Given the description of an element on the screen output the (x, y) to click on. 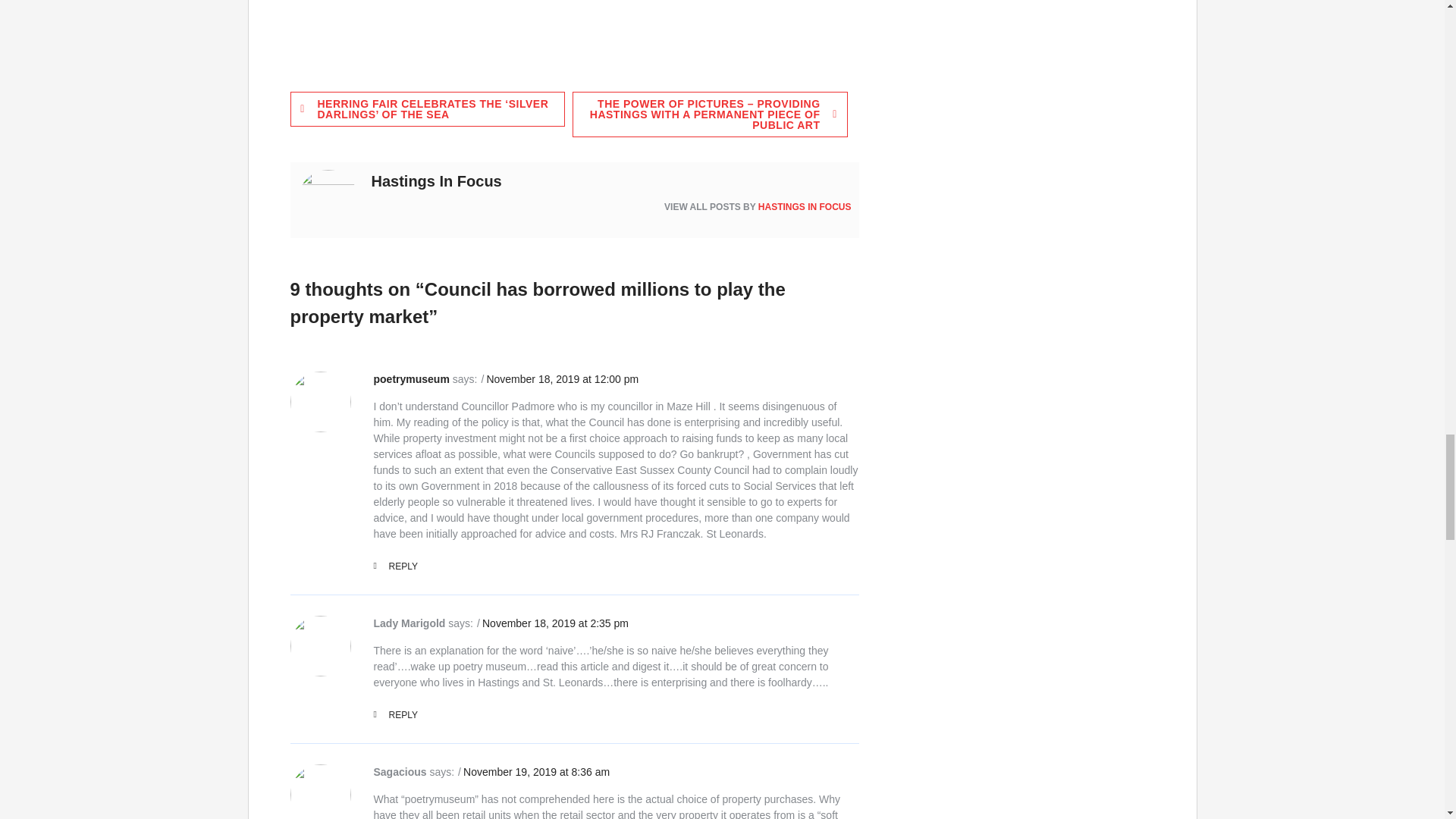
HASTINGS IN FOCUS (804, 206)
November 18, 2019 at 2:35 pm (554, 623)
poetrymuseum (410, 378)
The Hastings Podcast by The Sounds of Hastings (531, 24)
REPLY (394, 566)
November 19, 2019 at 8:36 am (536, 771)
REPLY (394, 715)
November 18, 2019 at 12:00 pm (562, 378)
